Given the description of an element on the screen output the (x, y) to click on. 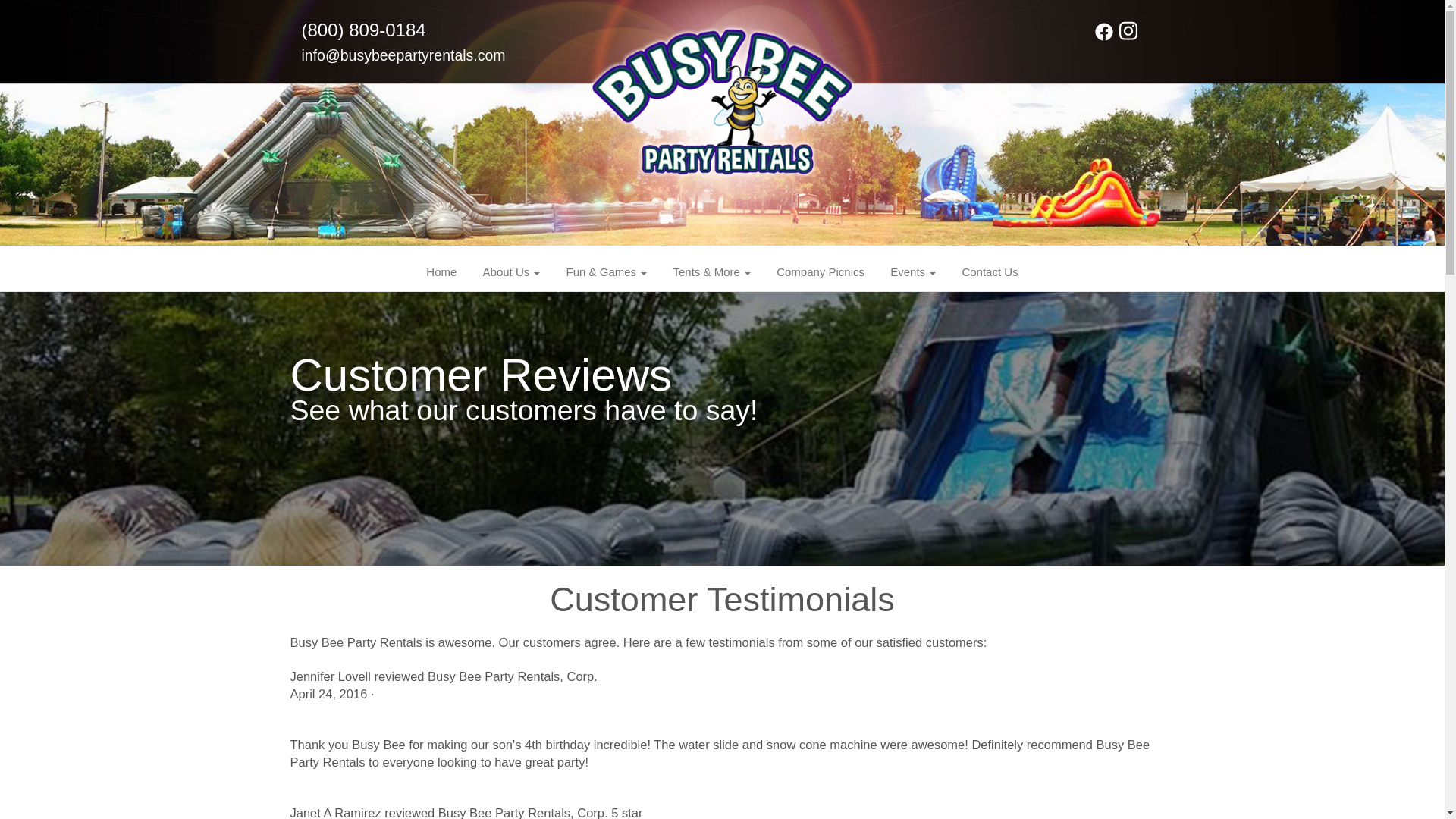
Busy Bee Party Rentals (721, 121)
Busy Bee Party Rentals Instagram (1128, 36)
Home (440, 272)
About Us (511, 272)
Busy Bee Party Rentals Facebook (1103, 36)
Events (913, 272)
Contact Us (989, 272)
Company Picnics (820, 272)
